Given the description of an element on the screen output the (x, y) to click on. 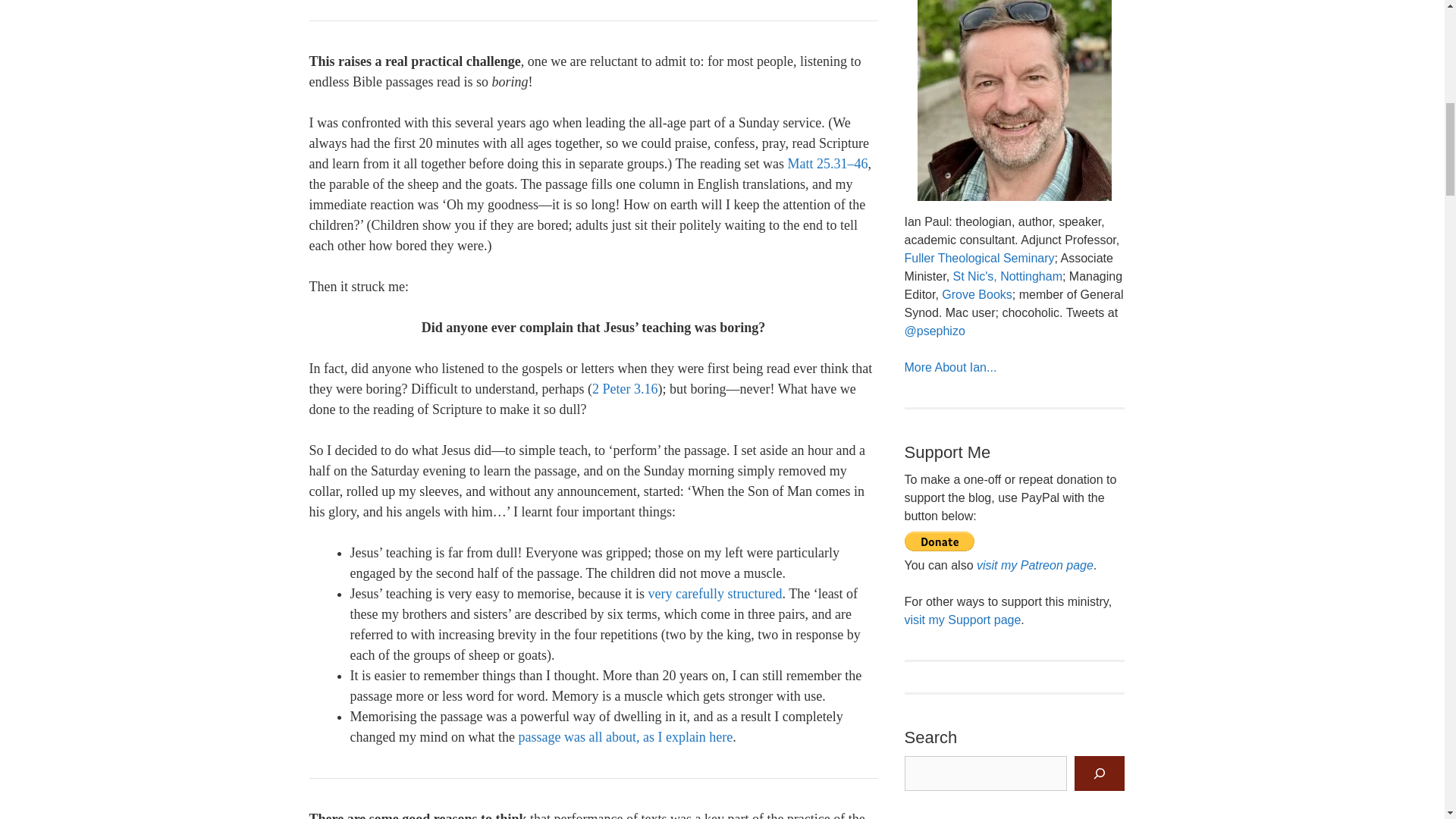
2 Peter 3.16 (625, 388)
The meaning of the sheep and the goats (625, 736)
passage was all about, as I explain here (625, 736)
very carefully structured (715, 593)
Scroll back to top (1406, 720)
